Given the description of an element on the screen output the (x, y) to click on. 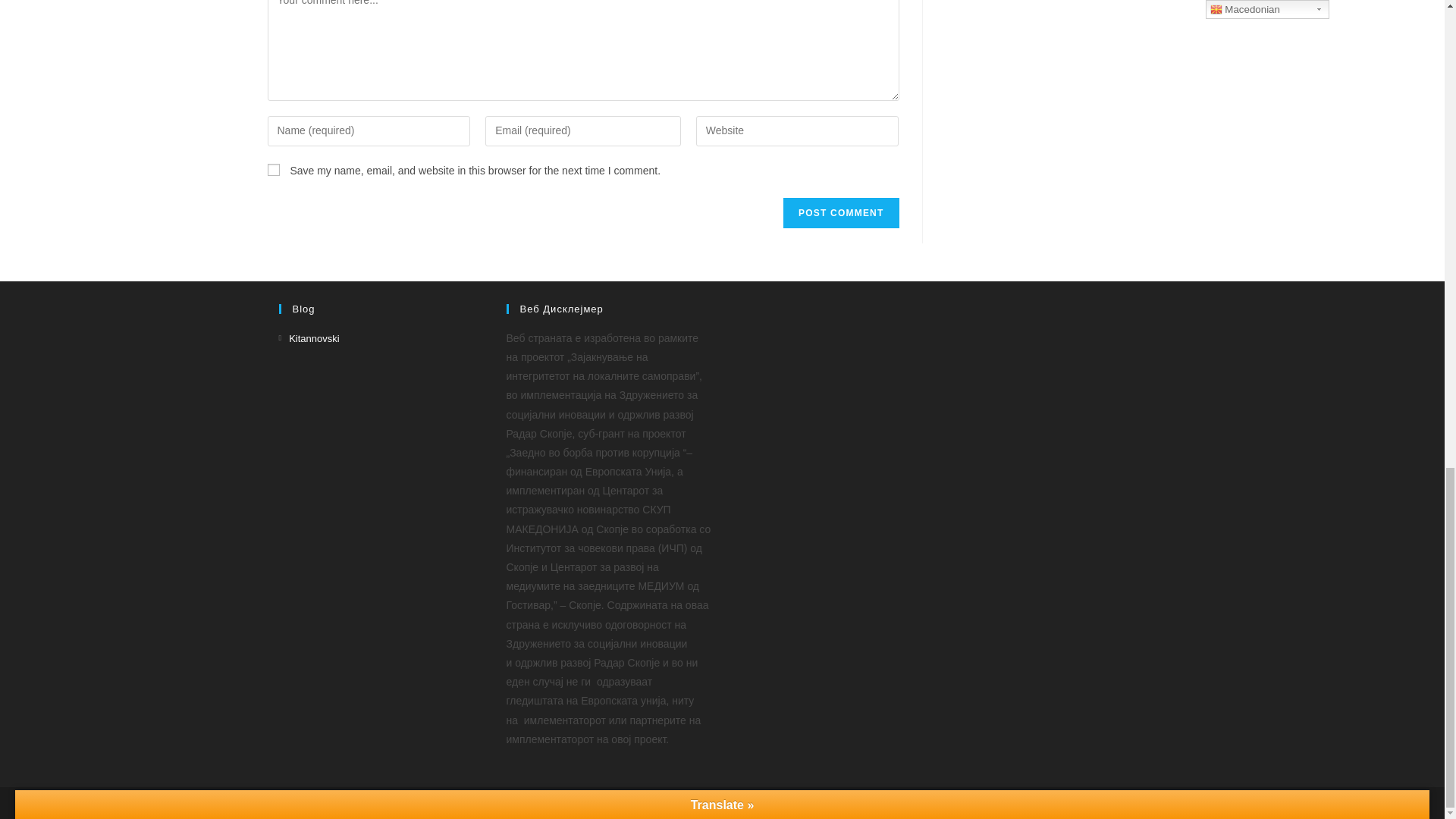
Post Comment (840, 213)
Post Comment (840, 213)
Kitannovski (309, 338)
yes (272, 169)
